Given the description of an element on the screen output the (x, y) to click on. 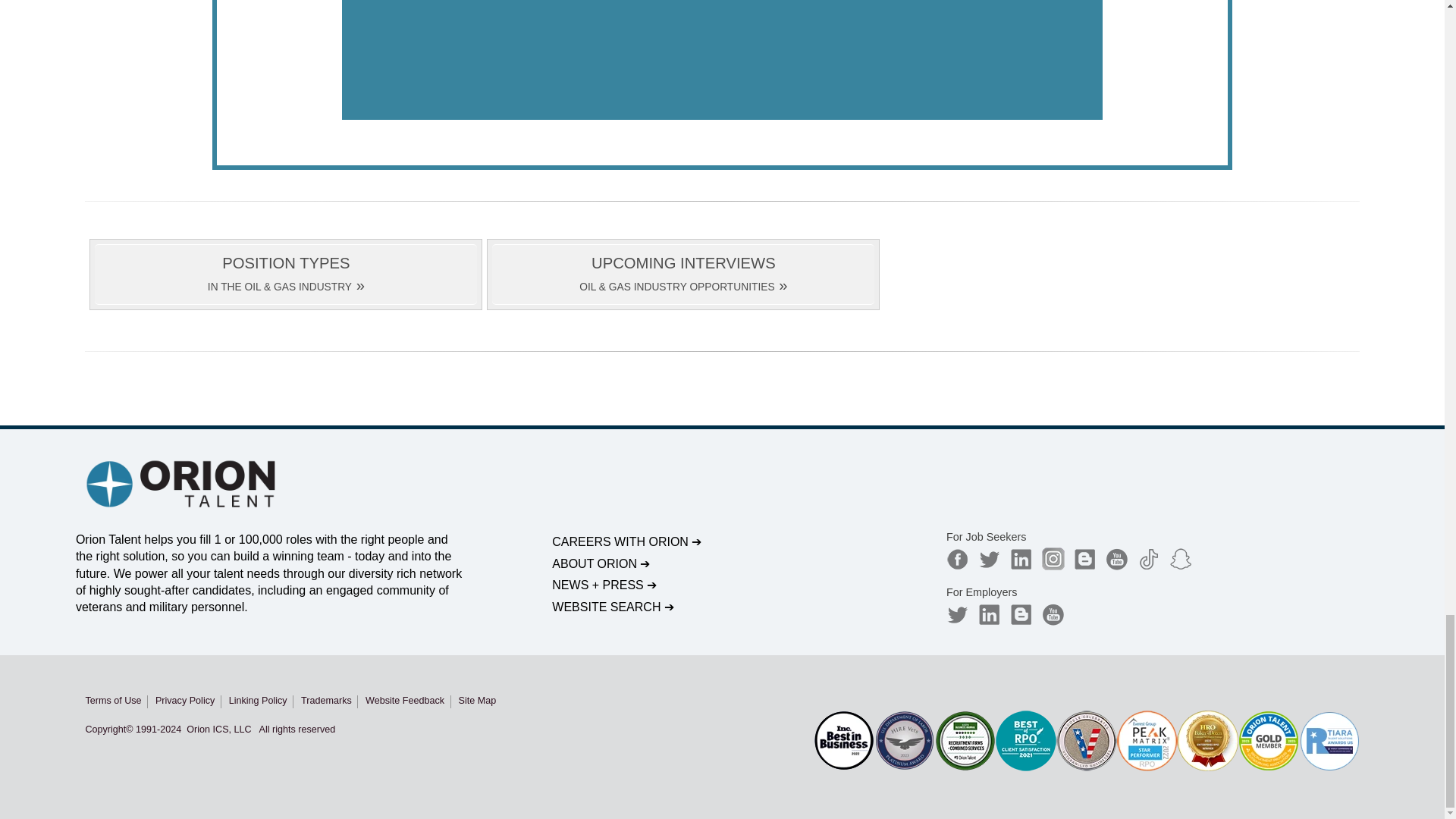
facebook (957, 558)
blog (1085, 558)
tiktok (1148, 558)
twitter (957, 613)
blog (1021, 613)
snapchat (1180, 558)
linkedin (989, 613)
youtube (1053, 613)
instagram (1053, 558)
twitter (989, 558)
